Given the description of an element on the screen output the (x, y) to click on. 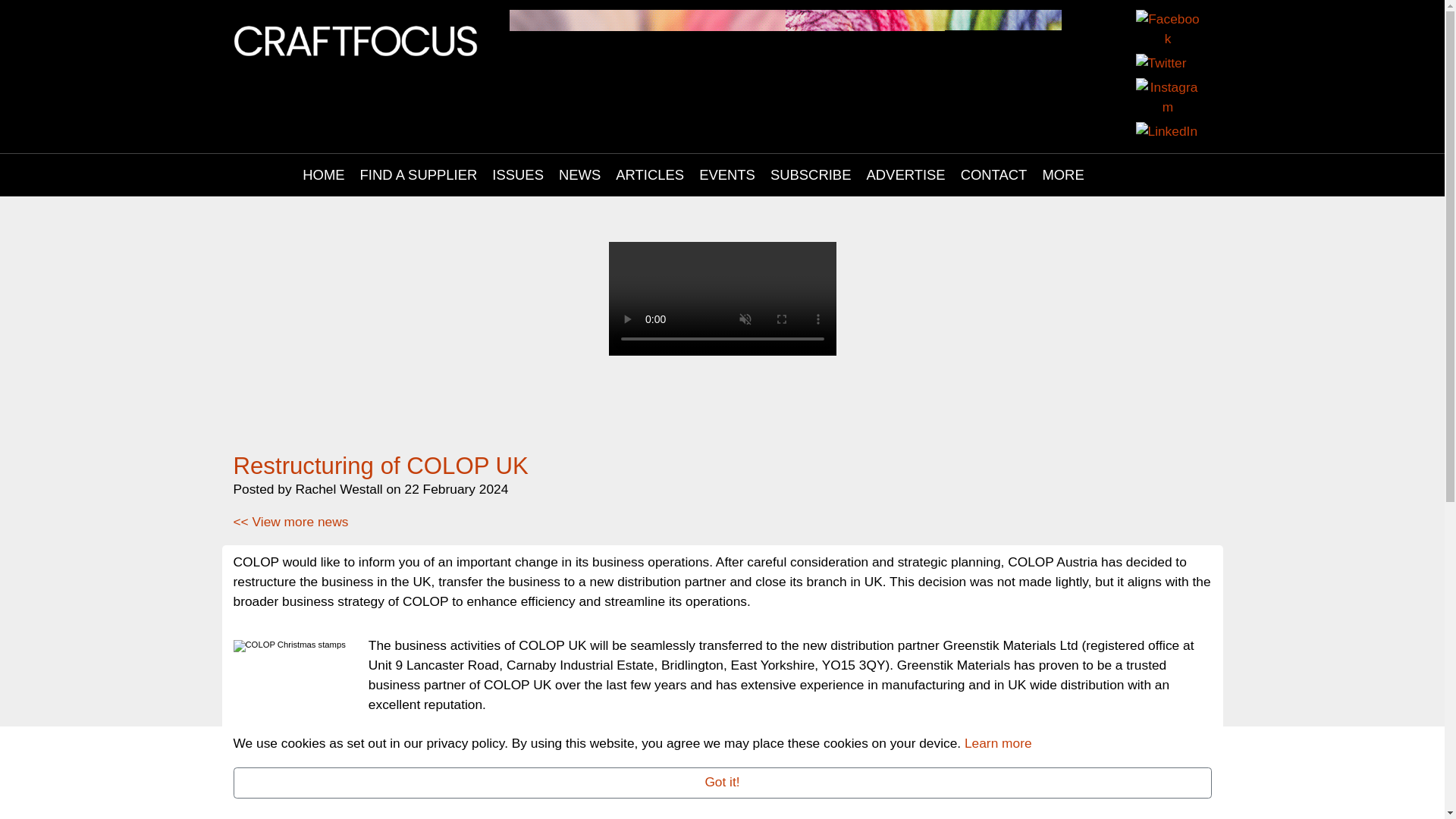
Find us on Facebook (1167, 30)
HOME (322, 174)
Got it! (721, 782)
FIND A SUPPLIER (418, 174)
Subscription is FREE of charge to all UK based traders (721, 350)
search (1120, 174)
Learn more (997, 743)
Follow us on Instagram (1167, 99)
View more news (290, 521)
Follow us on LinkedIn (1166, 133)
